Given the description of an element on the screen output the (x, y) to click on. 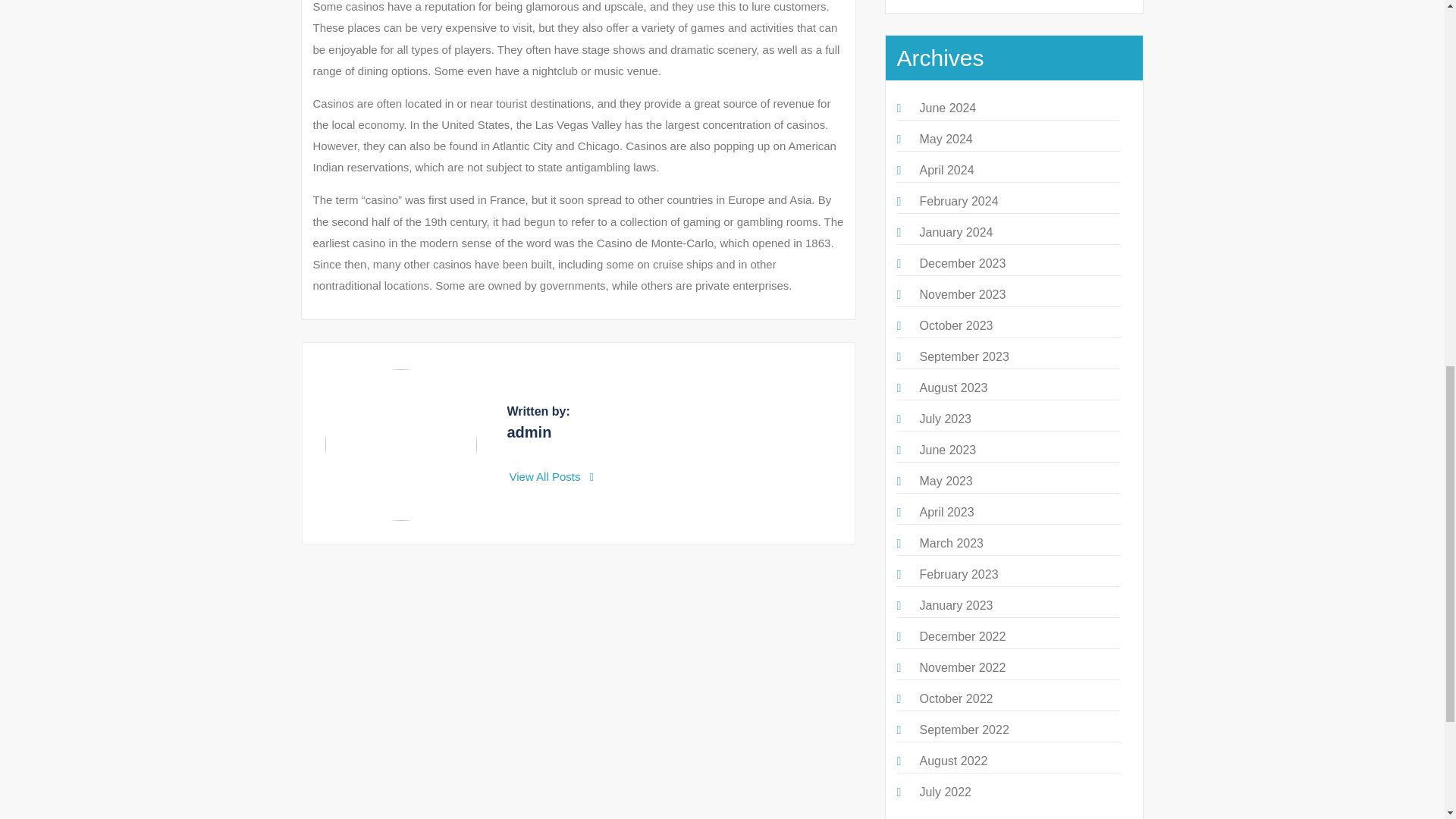
August 2023 (952, 387)
May 2024 (945, 138)
August 2022 (952, 760)
May 2023 (945, 481)
September 2023 (963, 356)
July 2023 (944, 418)
April 2024 (946, 169)
February 2023 (957, 574)
October 2023 (955, 325)
March 2023 (951, 543)
